Given the description of an element on the screen output the (x, y) to click on. 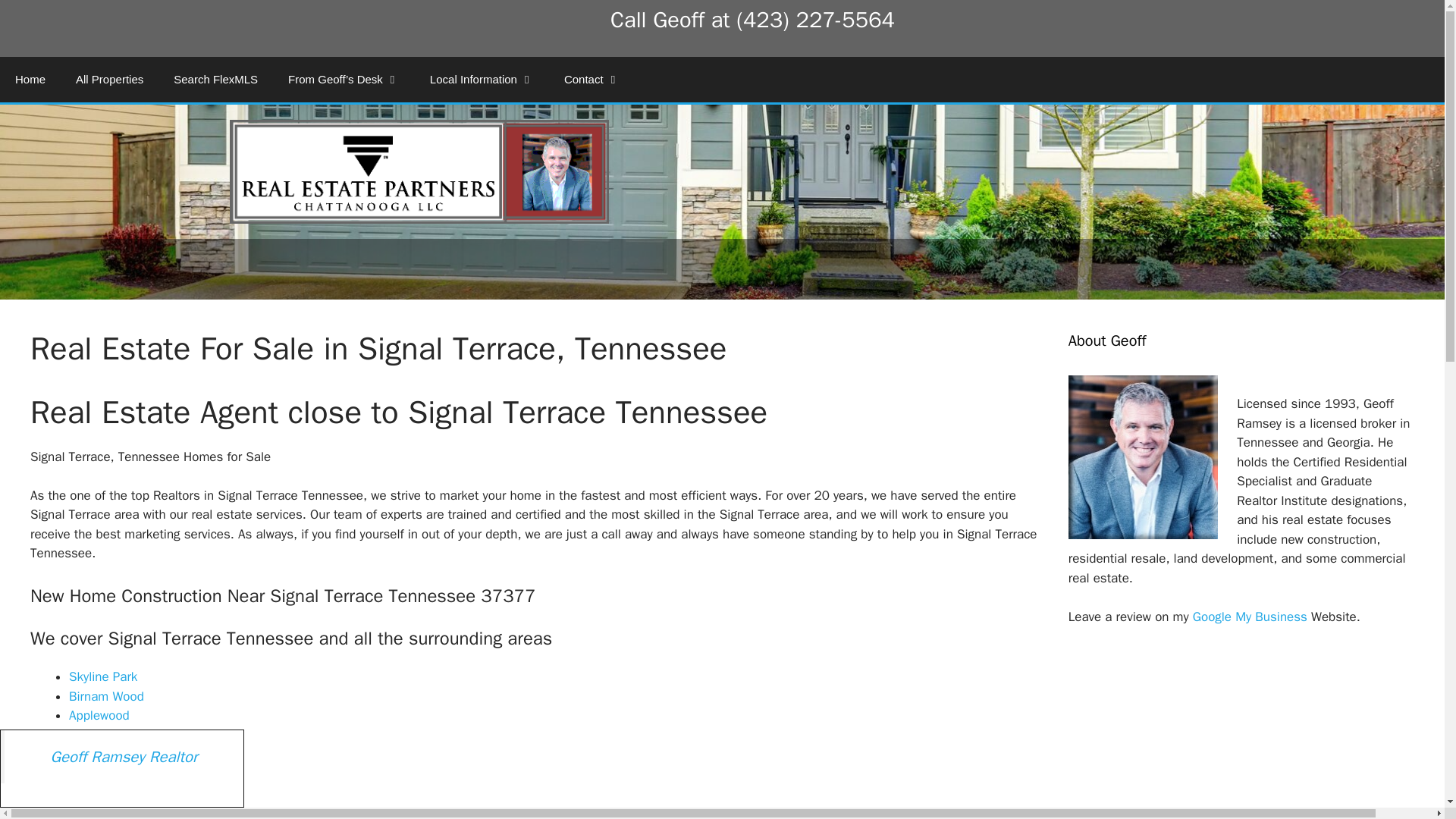
Applewood (98, 715)
Rustic Villa (99, 754)
Birnam Wood (106, 696)
Hiddenbrook (103, 773)
Local Information (481, 79)
Timesville (95, 792)
All Properties (109, 79)
Home (30, 79)
Contact (591, 79)
Search FlexMLS (215, 79)
Claridge (91, 811)
Shepherd Forest (114, 734)
Skyline Park (102, 676)
